Given the description of an element on the screen output the (x, y) to click on. 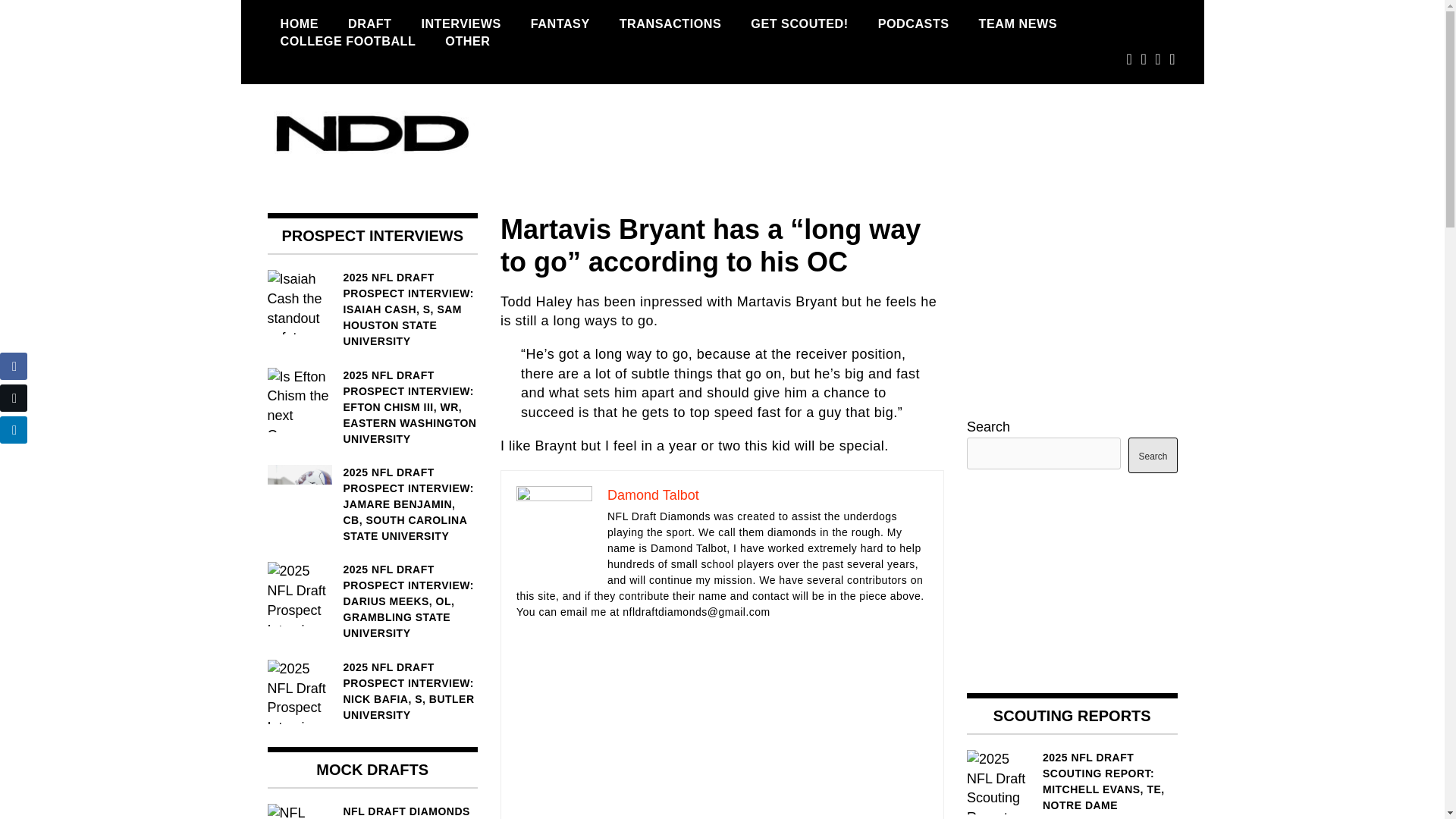
DRAFT (369, 23)
HOME (298, 23)
GET SCOUTED! (799, 23)
TRANSACTIONS (670, 23)
INTERVIEWS (460, 23)
PODCASTS (913, 23)
FANTASY (560, 23)
TEAM NEWS (1018, 23)
